Given the description of an element on the screen output the (x, y) to click on. 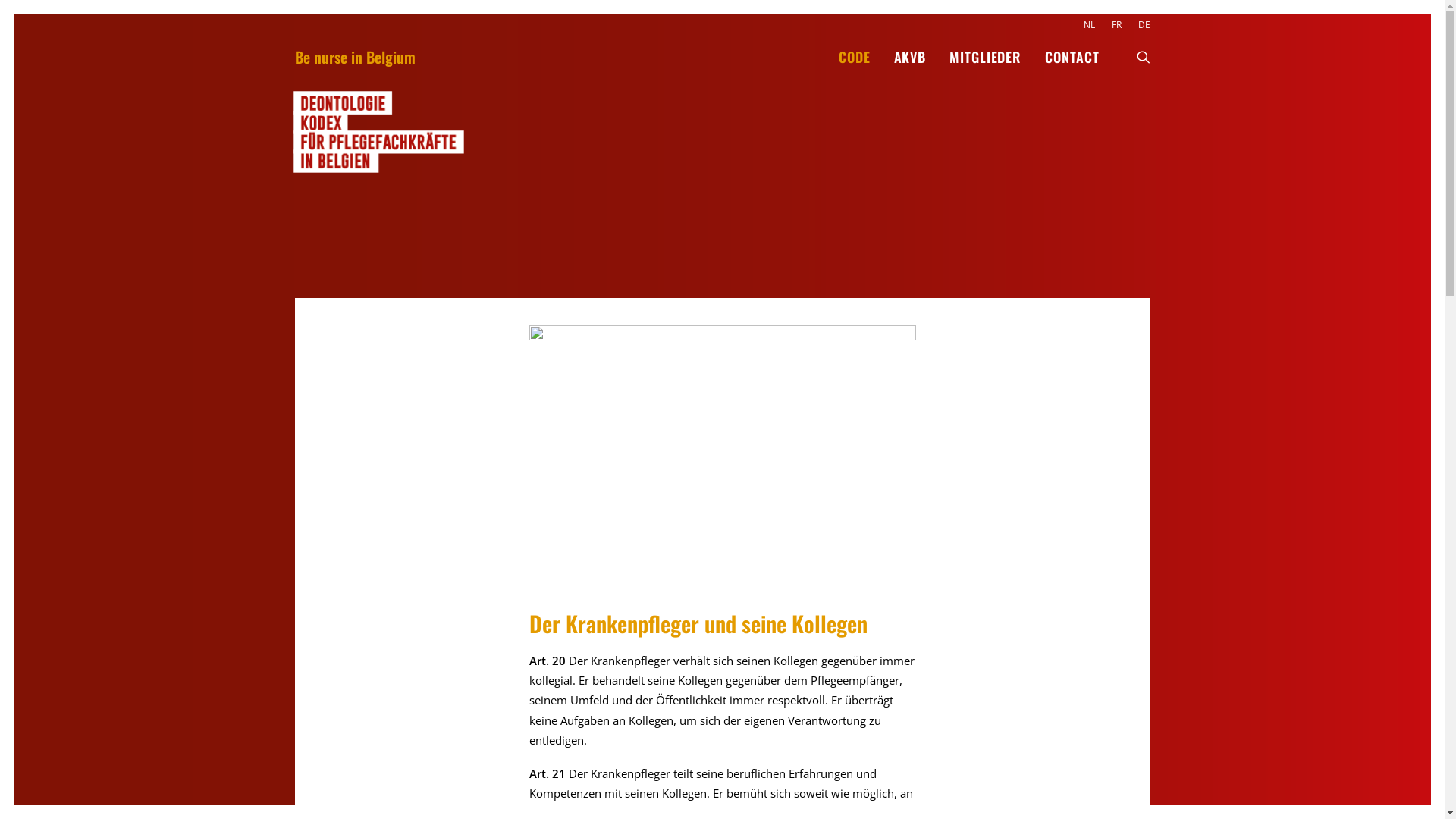
CODE Element type: text (854, 56)
DE Element type: text (1140, 24)
CONTACT Element type: text (1066, 56)
NL Element type: text (1091, 24)
MITGLIEDER Element type: text (985, 56)
FR Element type: text (1115, 24)
Be nurse in Belgium Element type: text (354, 56)
AKVB Element type: text (910, 56)
